Given the description of an element on the screen output the (x, y) to click on. 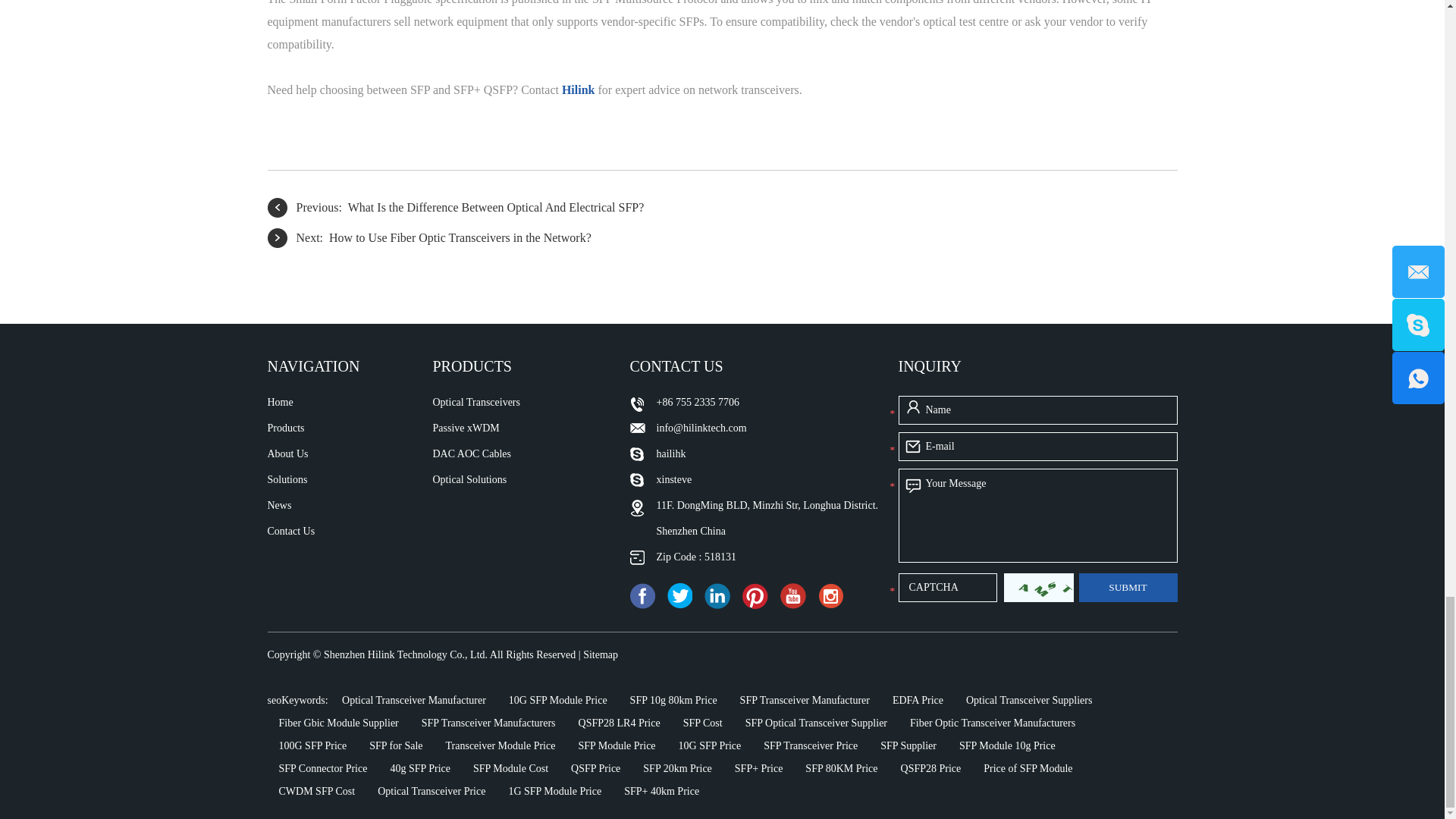
submit (1127, 587)
